Given the description of an element on the screen output the (x, y) to click on. 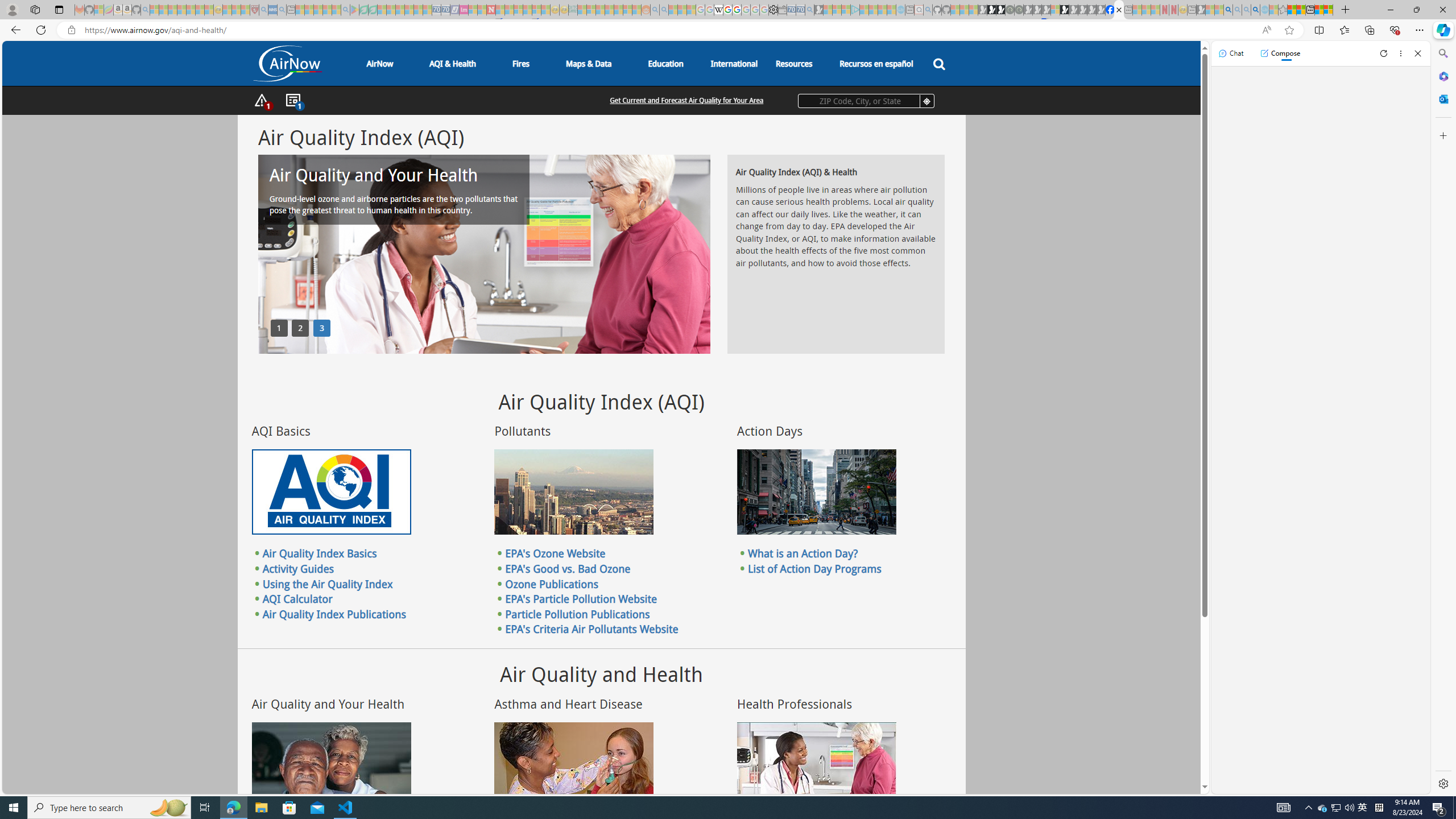
City traffic (816, 491)
Nordace | Facebook (1109, 9)
3 (321, 327)
Pollutants (573, 491)
Bluey: Let's Play! - Apps on Google Play - Sleeping (354, 9)
